Given the description of an element on the screen output the (x, y) to click on. 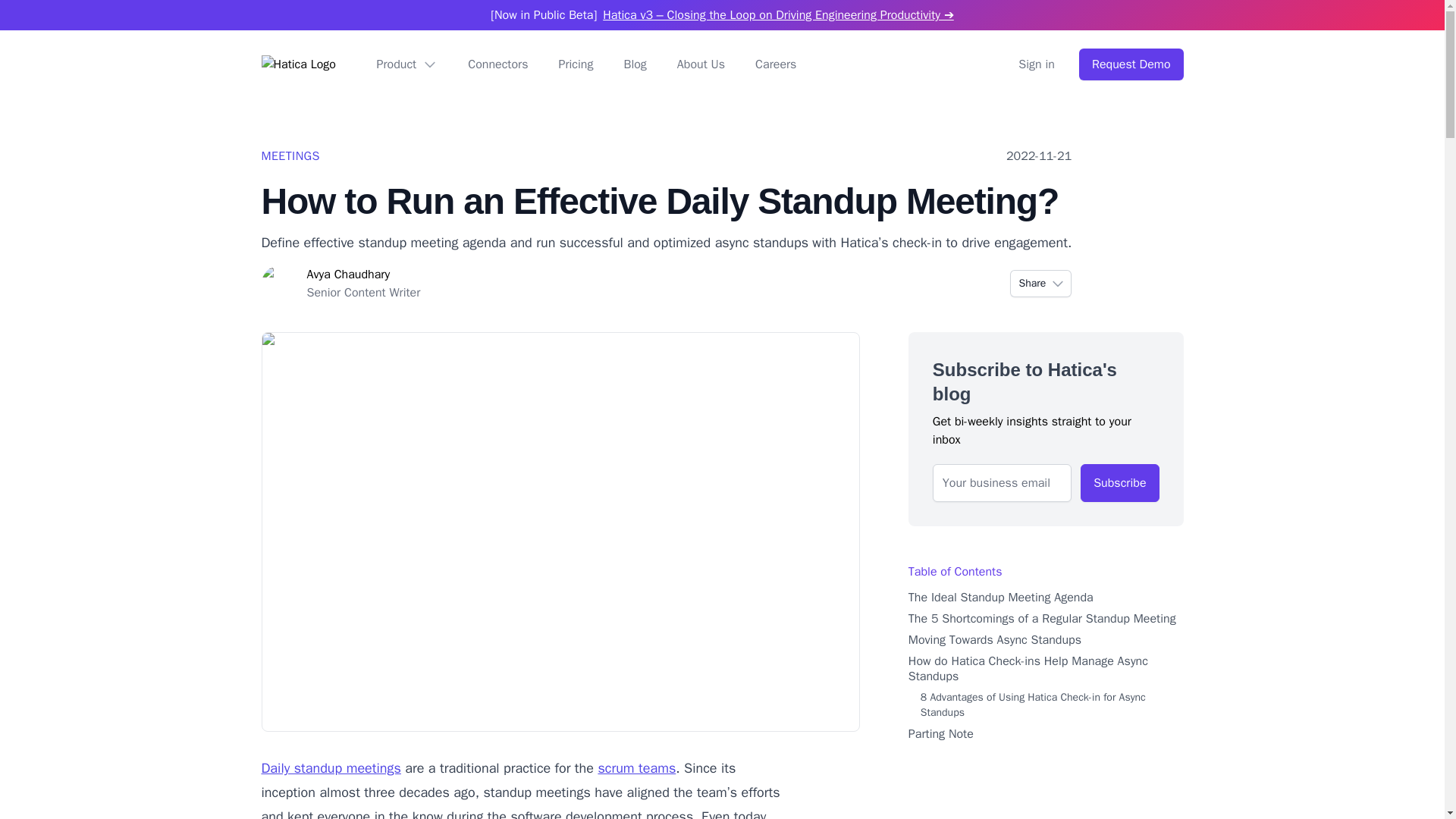
Share (1040, 283)
Connectors (497, 64)
scrum teams (635, 768)
About Us (701, 64)
Request Demo (1130, 64)
Daily standup meetings (330, 768)
Workflow (303, 64)
Product (406, 64)
MEETINGS (289, 155)
Blog (634, 64)
Pricing (462, 283)
Subscribe (574, 64)
Sign in (1119, 483)
Careers (1035, 64)
